Given the description of an element on the screen output the (x, y) to click on. 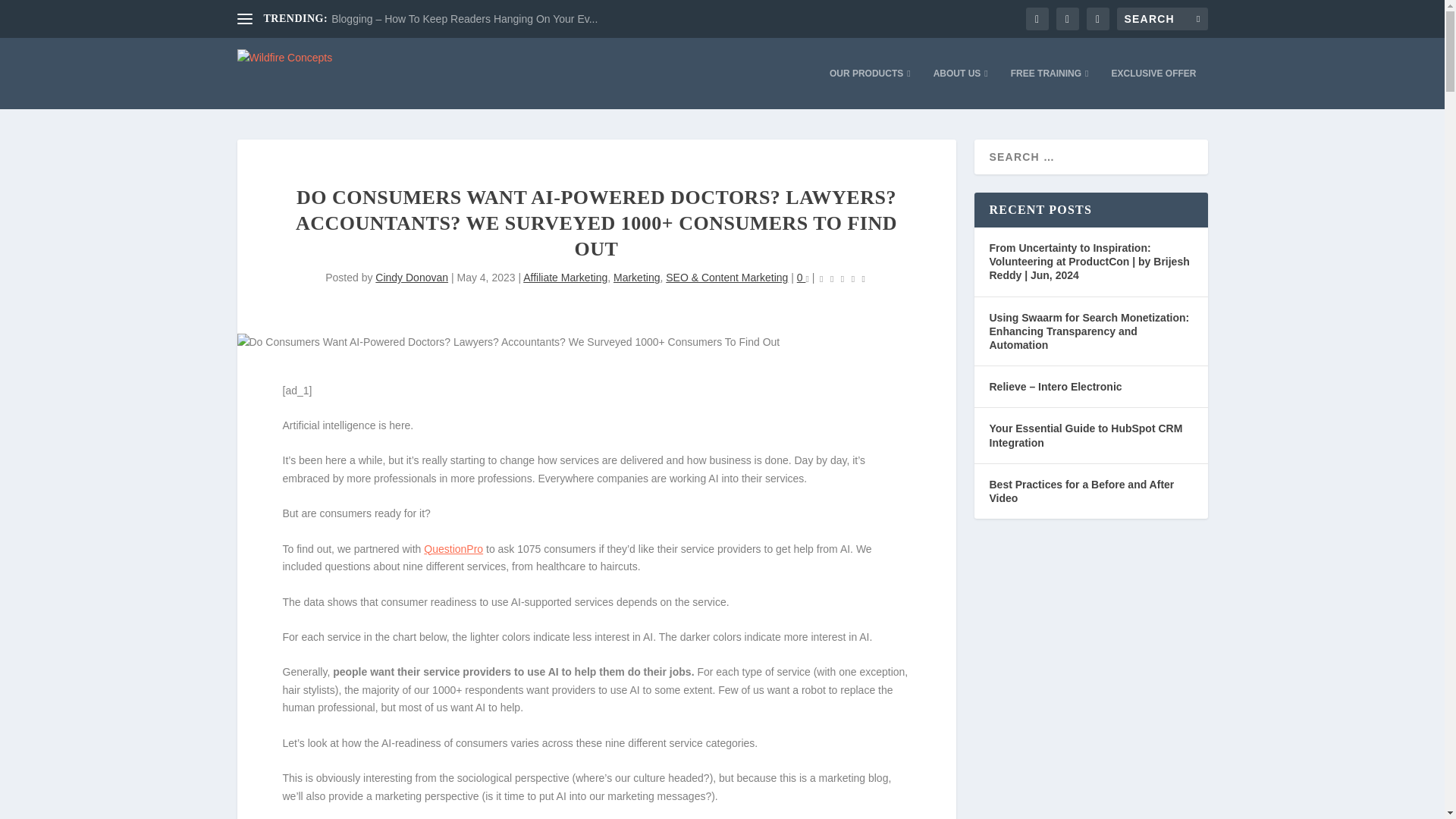
ABOUT US (960, 87)
OUR PRODUCTS (870, 87)
Rating: 0.00 (841, 278)
FREE TRAINING (1049, 87)
Posts by Cindy Donovan (411, 277)
Search for: (1161, 18)
